Given the description of an element on the screen output the (x, y) to click on. 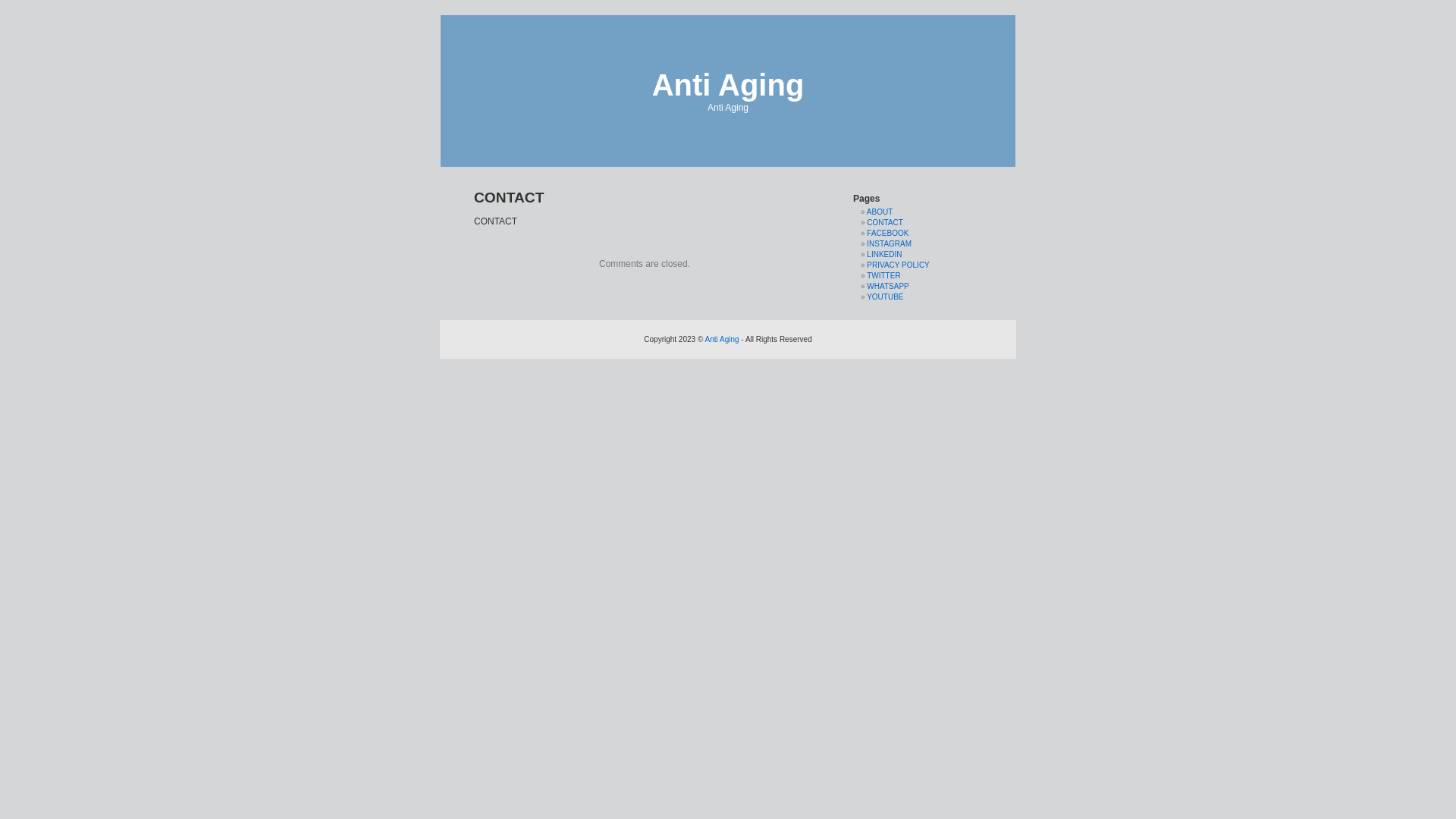
CONTACT Element type: text (884, 222)
ABOUT Element type: text (879, 211)
LINKEDIN Element type: text (883, 254)
INSTAGRAM Element type: text (888, 243)
YOUTUBE Element type: text (884, 296)
TWITTER Element type: text (883, 275)
FACEBOOK Element type: text (887, 233)
Anti Aging Element type: text (728, 84)
WHATSAPP Element type: text (887, 286)
Anti Aging Element type: text (722, 339)
PRIVACY POLICY Element type: text (897, 264)
